Given the description of an element on the screen output the (x, y) to click on. 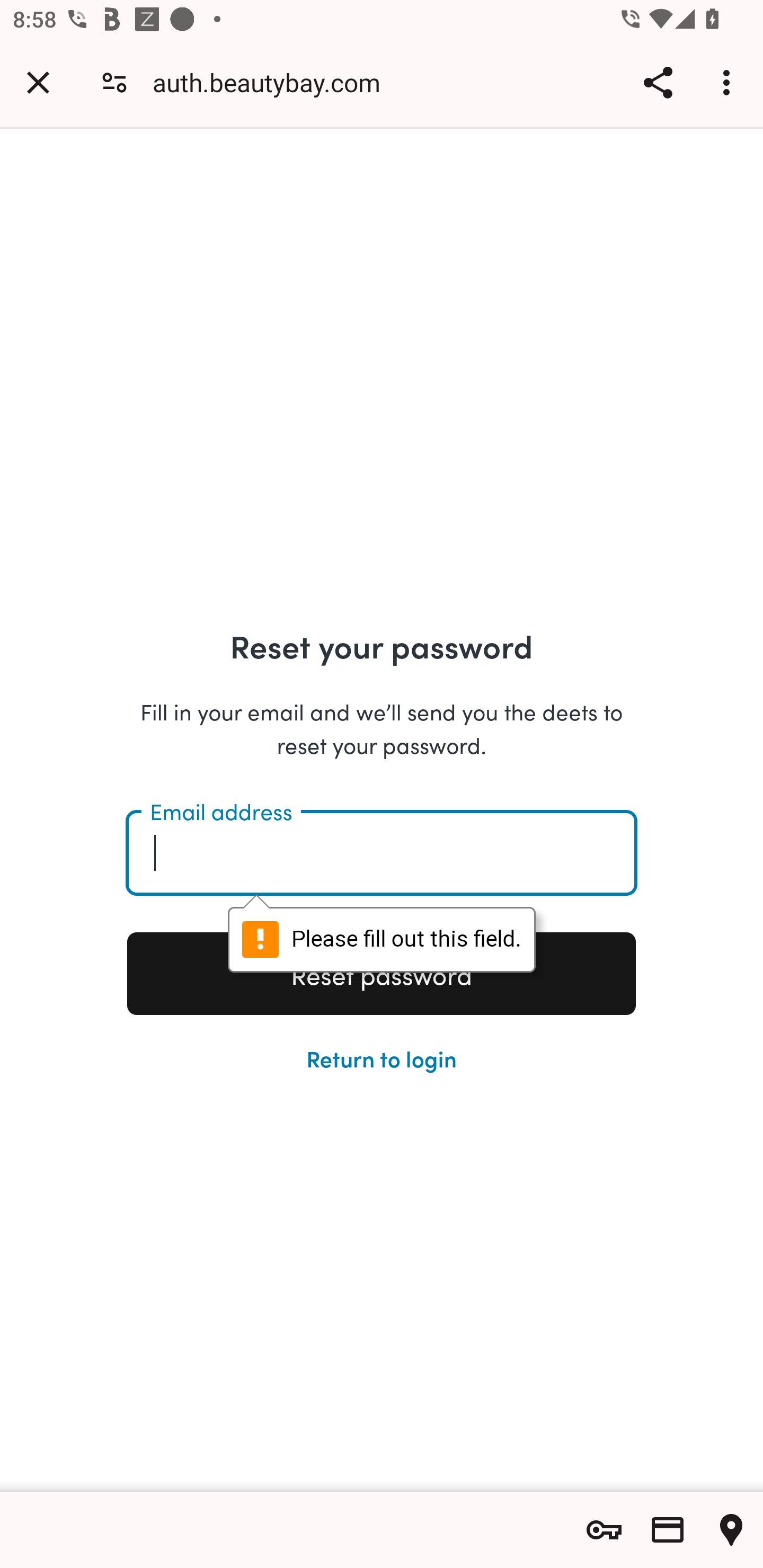
Close tab (38, 82)
Share (657, 82)
Customize and control Google Chrome (729, 82)
Connection is secure (114, 81)
auth.beautybay.com (272, 81)
Return to login (381, 1057)
Show saved passwords and password options (603, 1530)
Show saved payment methods (667, 1530)
Show saved addresses (731, 1530)
